Given the description of an element on the screen output the (x, y) to click on. 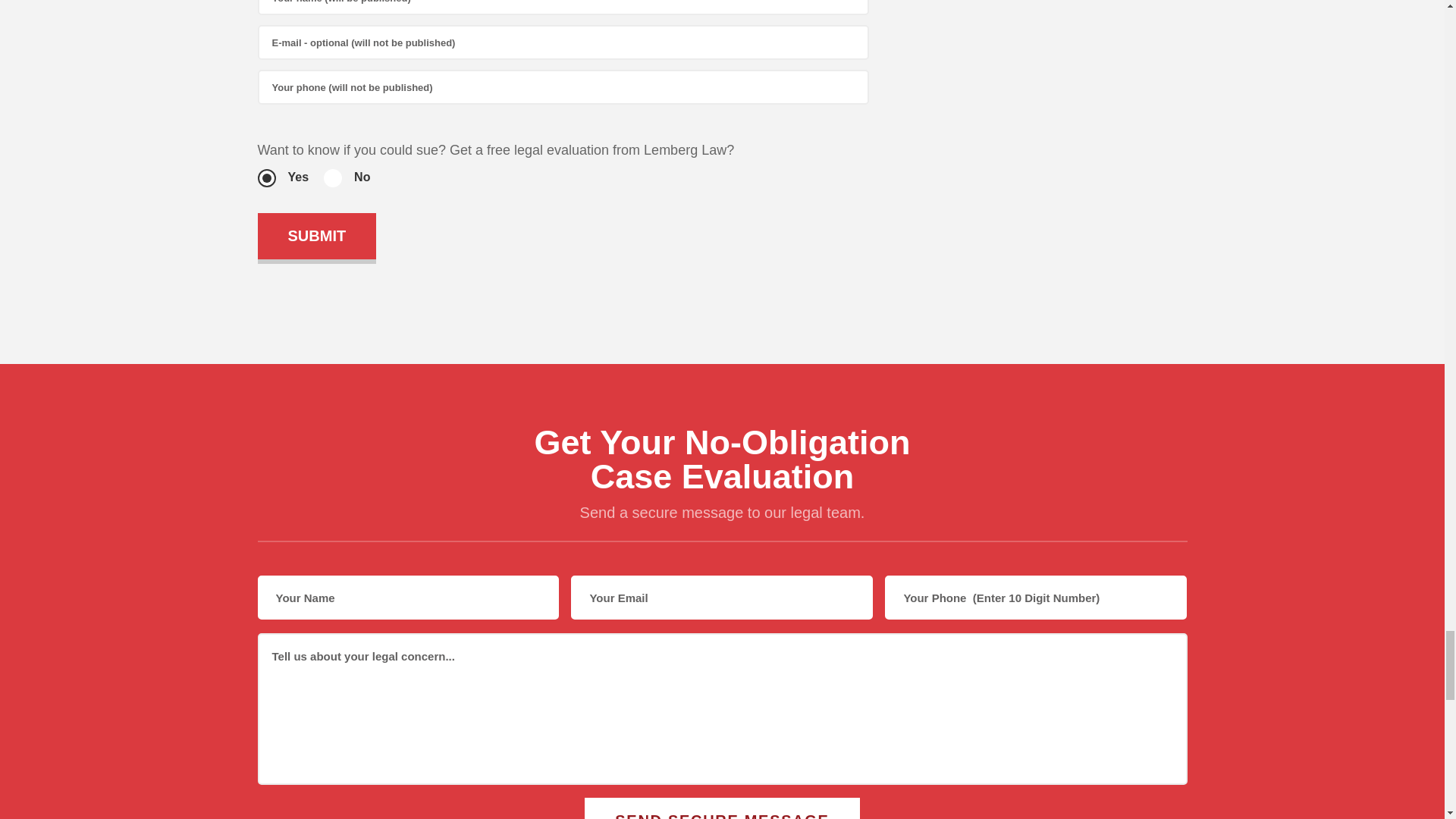
SUBMIT (317, 235)
SUBMIT (317, 235)
SEND SECURE MESSAGE (722, 808)
